Given the description of an element on the screen output the (x, y) to click on. 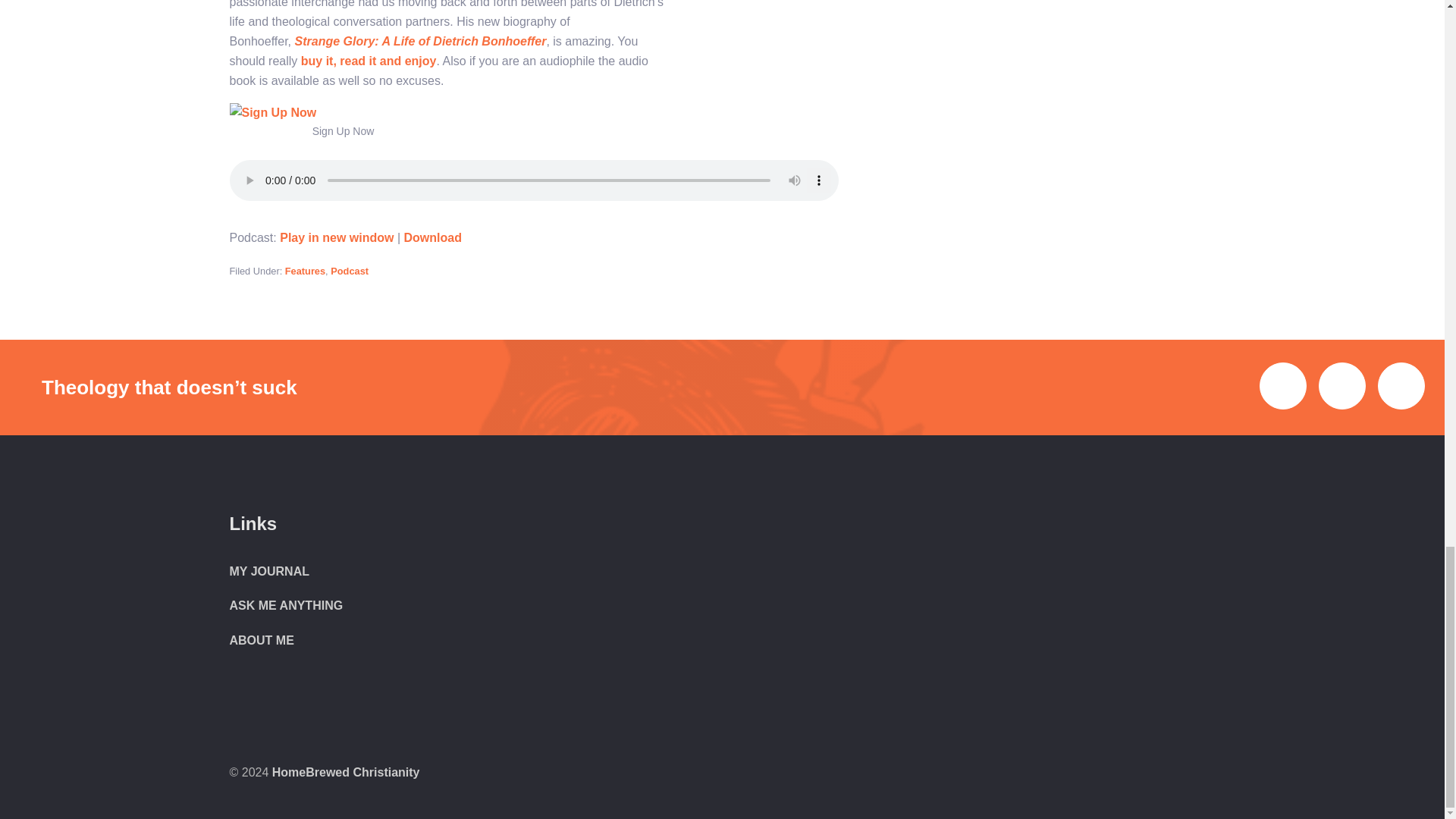
Podcast (349, 270)
Download (432, 237)
Play in new window (336, 237)
read it and enjoy (387, 60)
Features (304, 270)
buy it,  (320, 60)
Play in new window (336, 237)
Download (432, 237)
Strange Glory: A Life of Dietrich Bonhoeffer (420, 41)
